Given the description of an element on the screen output the (x, y) to click on. 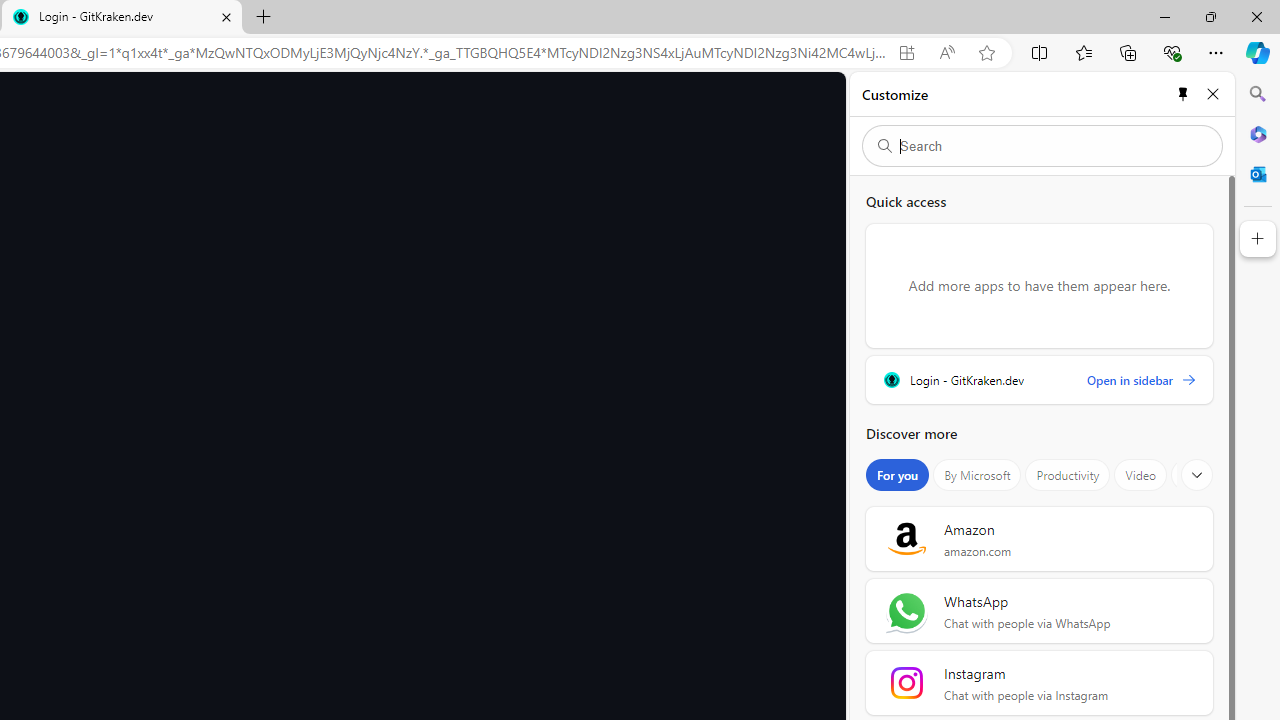
Show more (1197, 475)
App available. Install GitKraken.dev (906, 53)
By Microsoft (977, 475)
